Given the description of an element on the screen output the (x, y) to click on. 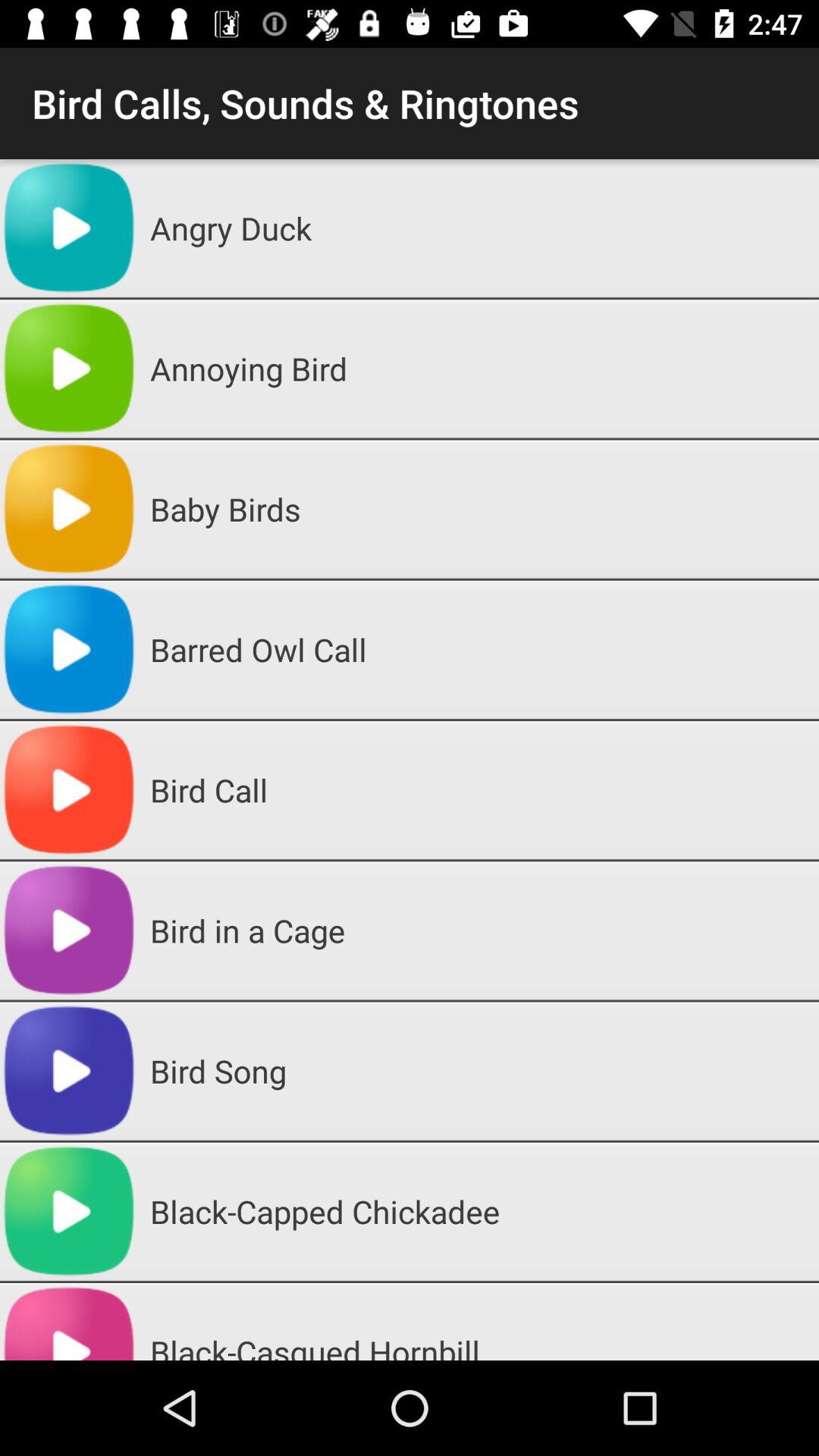
flip until angry duck item (478, 228)
